Given the description of an element on the screen output the (x, y) to click on. 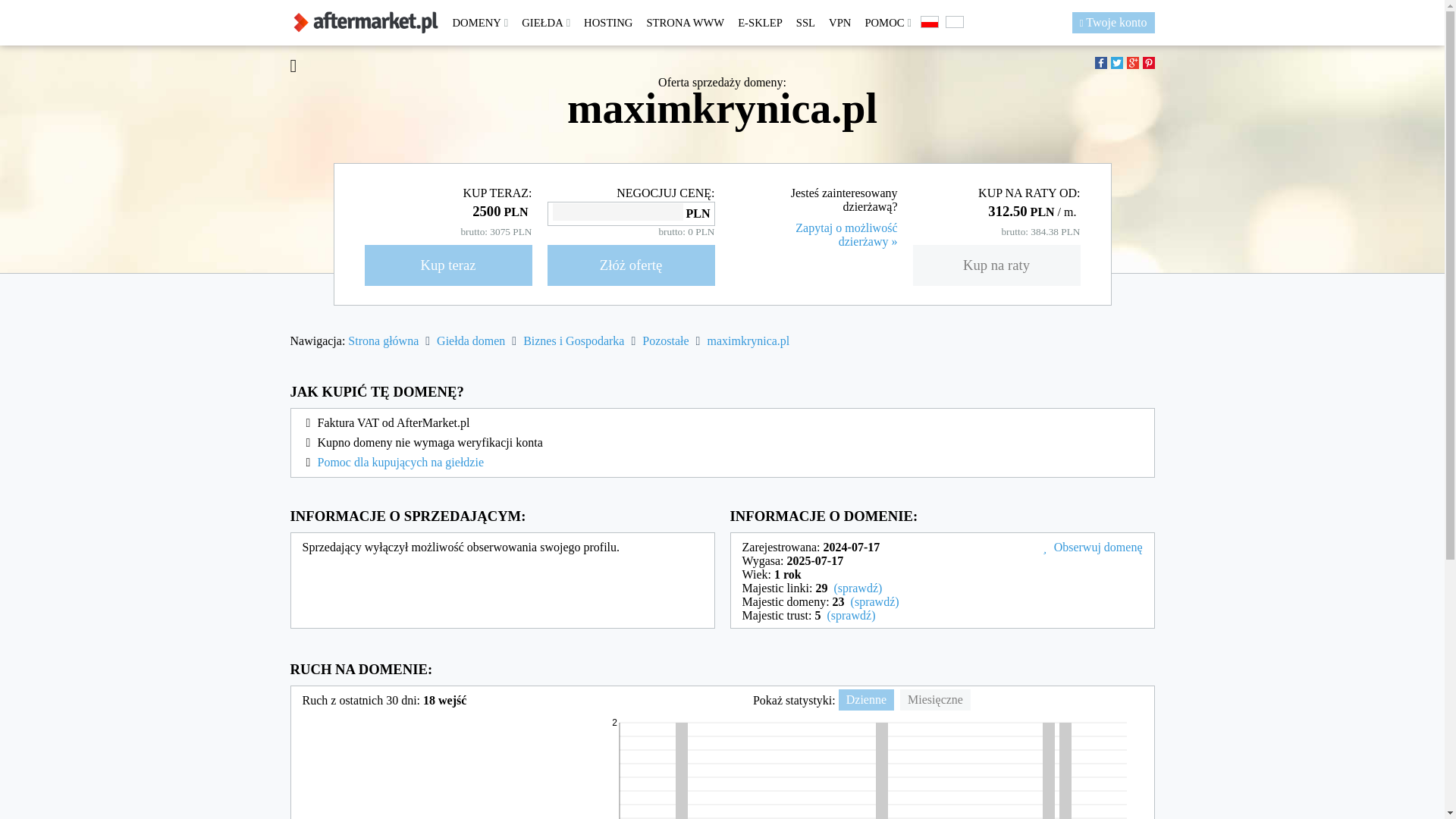
DOMENY (480, 22)
Twoje konto (1112, 22)
logo aftermarket (365, 22)
